Given the description of an element on the screen output the (x, y) to click on. 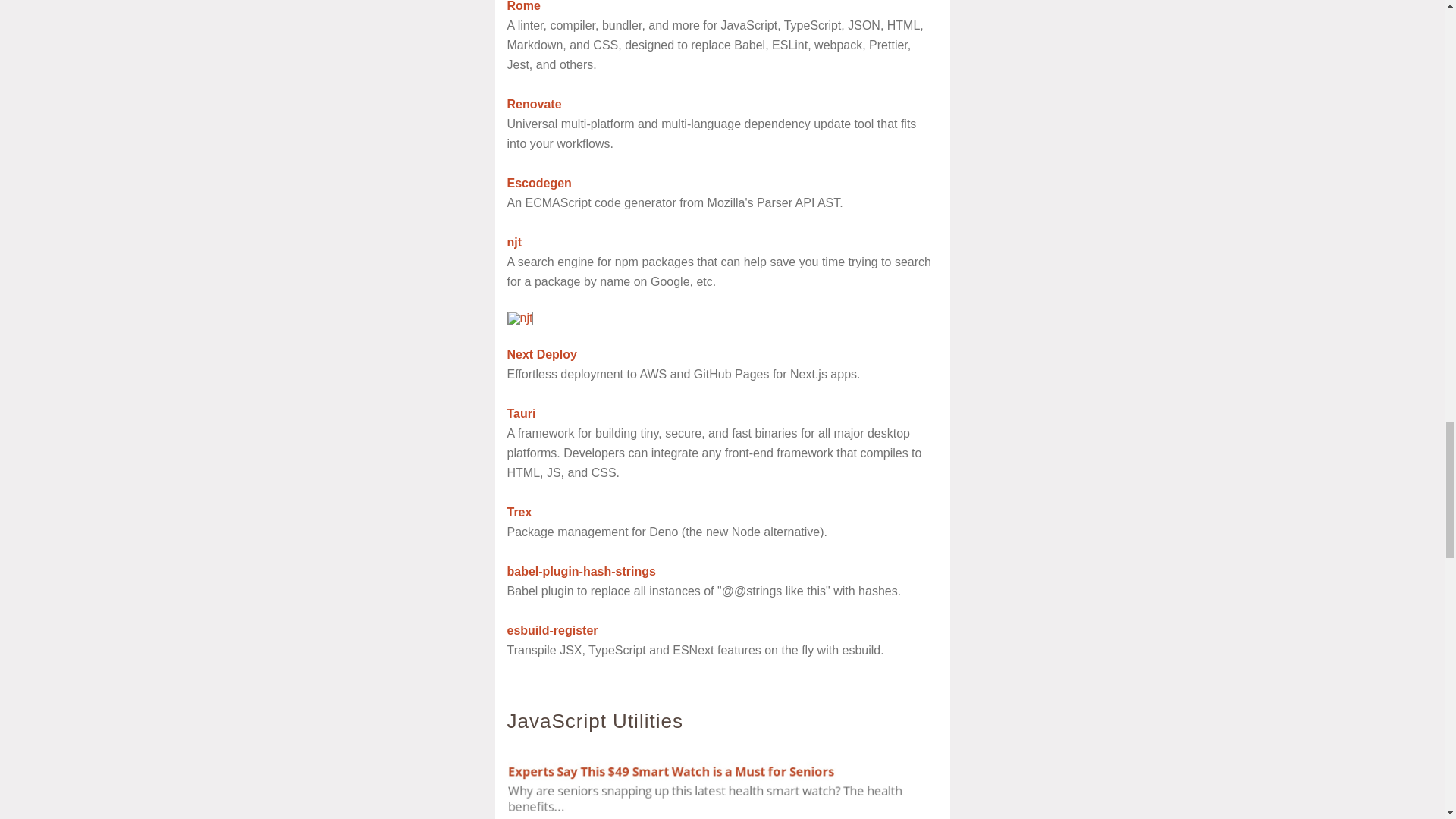
njt (513, 241)
Escodegen (538, 182)
Next Deploy (541, 354)
Rome (523, 6)
Renovate (533, 103)
babel-plugin-hash-strings (580, 571)
Tauri (520, 413)
Trex (518, 512)
